Given the description of an element on the screen output the (x, y) to click on. 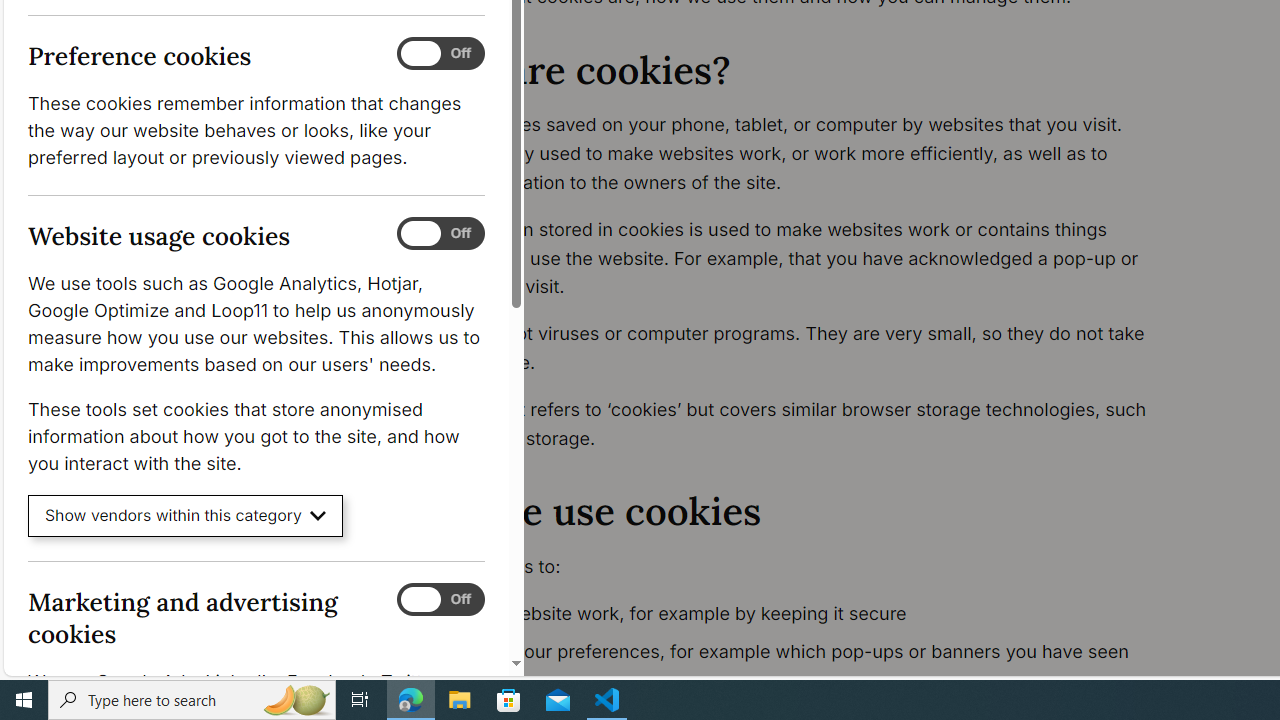
make our website work, for example by keeping it secure (796, 614)
Show vendors within this category (185, 516)
Marketing and advertising cookies (440, 599)
Preference cookies (440, 53)
Website usage cookies (440, 233)
